Given the description of an element on the screen output the (x, y) to click on. 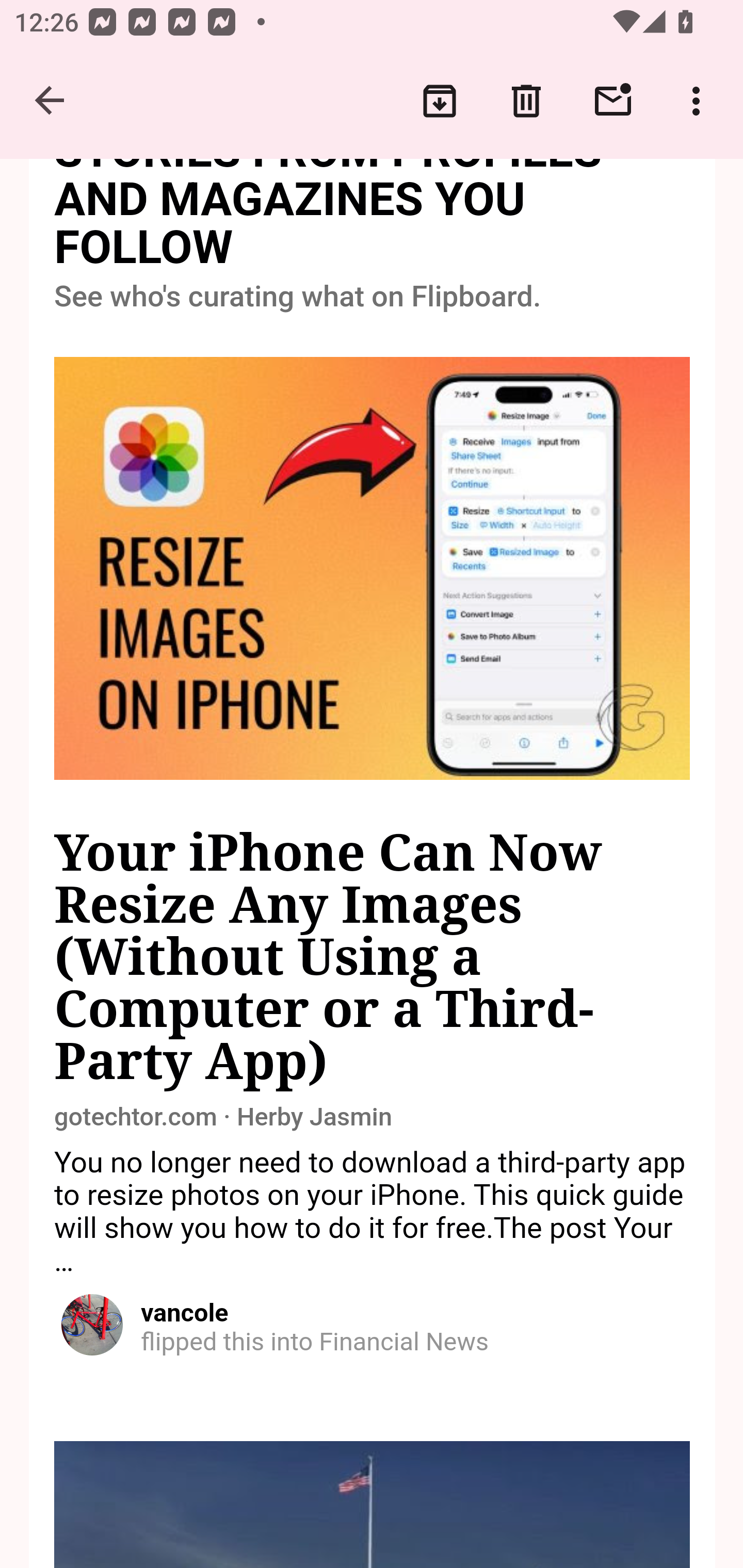
Navigate up (50, 101)
Archive (439, 101)
Delete (525, 101)
Mark unread (612, 101)
More options (699, 101)
